Given the description of an element on the screen output the (x, y) to click on. 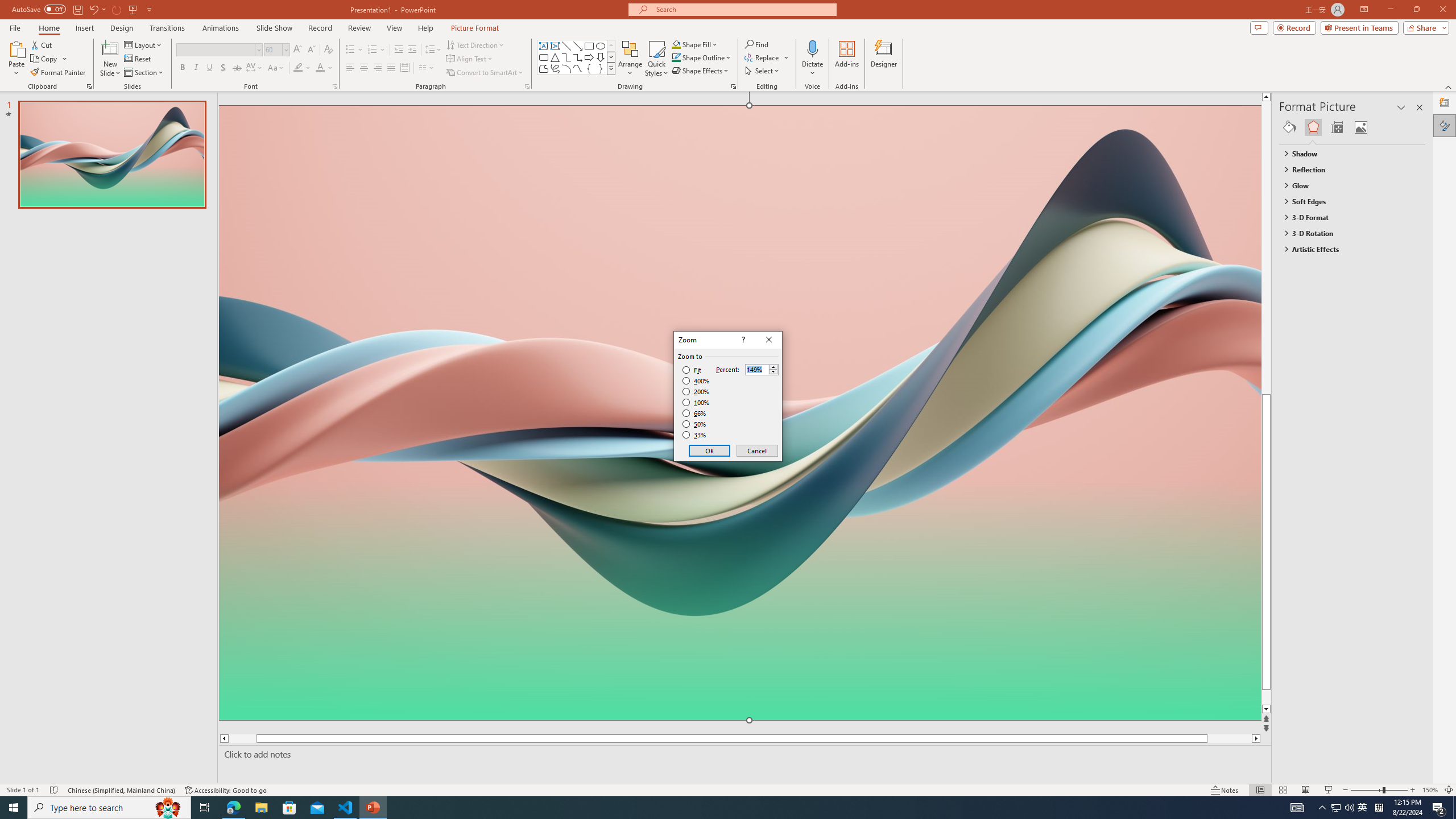
33% (694, 434)
OK (709, 450)
